Given the description of an element on the screen output the (x, y) to click on. 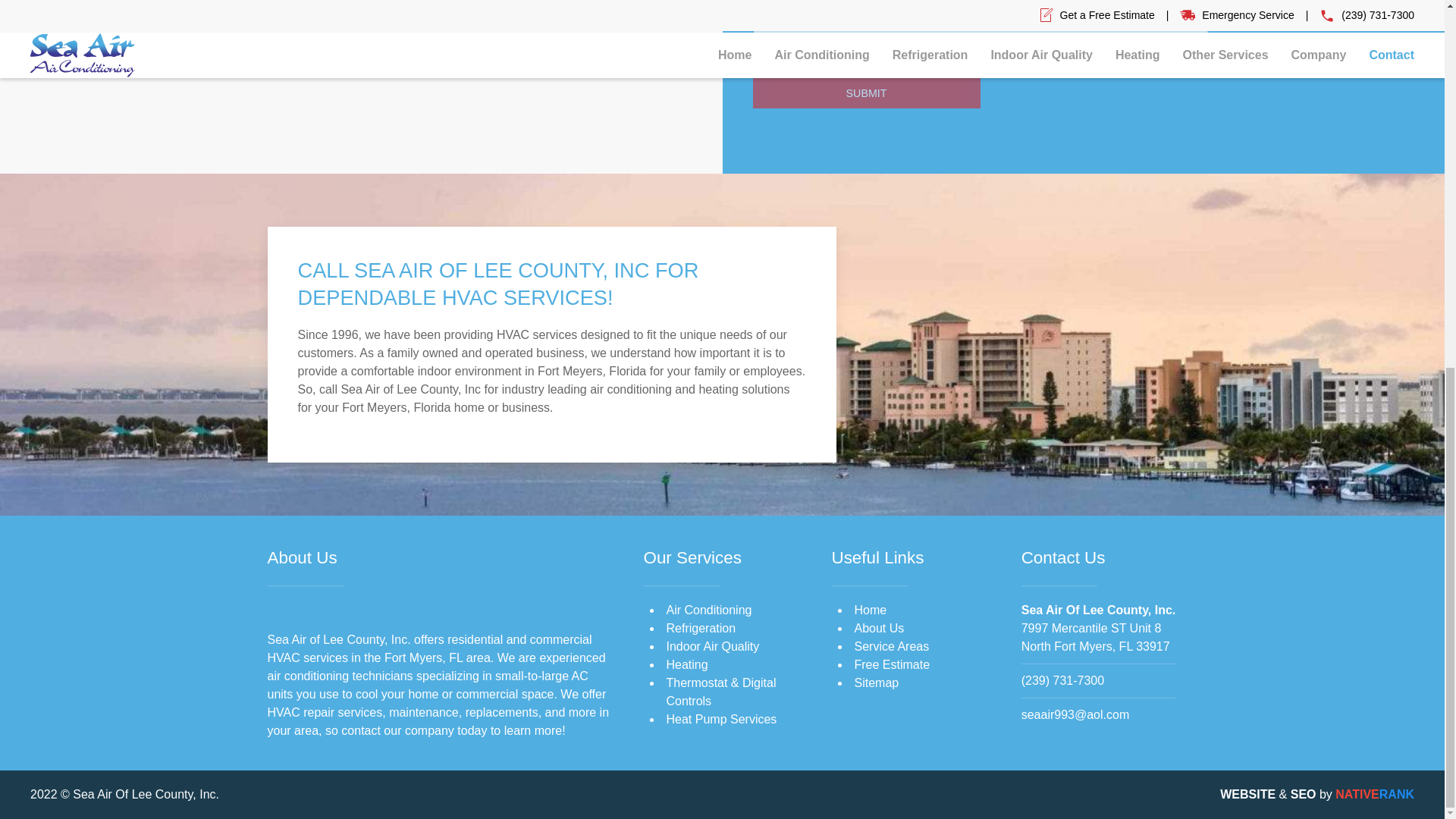
Get Directions to Sea Air Of Lee County, Inc. (1096, 636)
Contact Sea Air Of Lee County, Inc. (1099, 609)
Submit (865, 92)
